Given the description of an element on the screen output the (x, y) to click on. 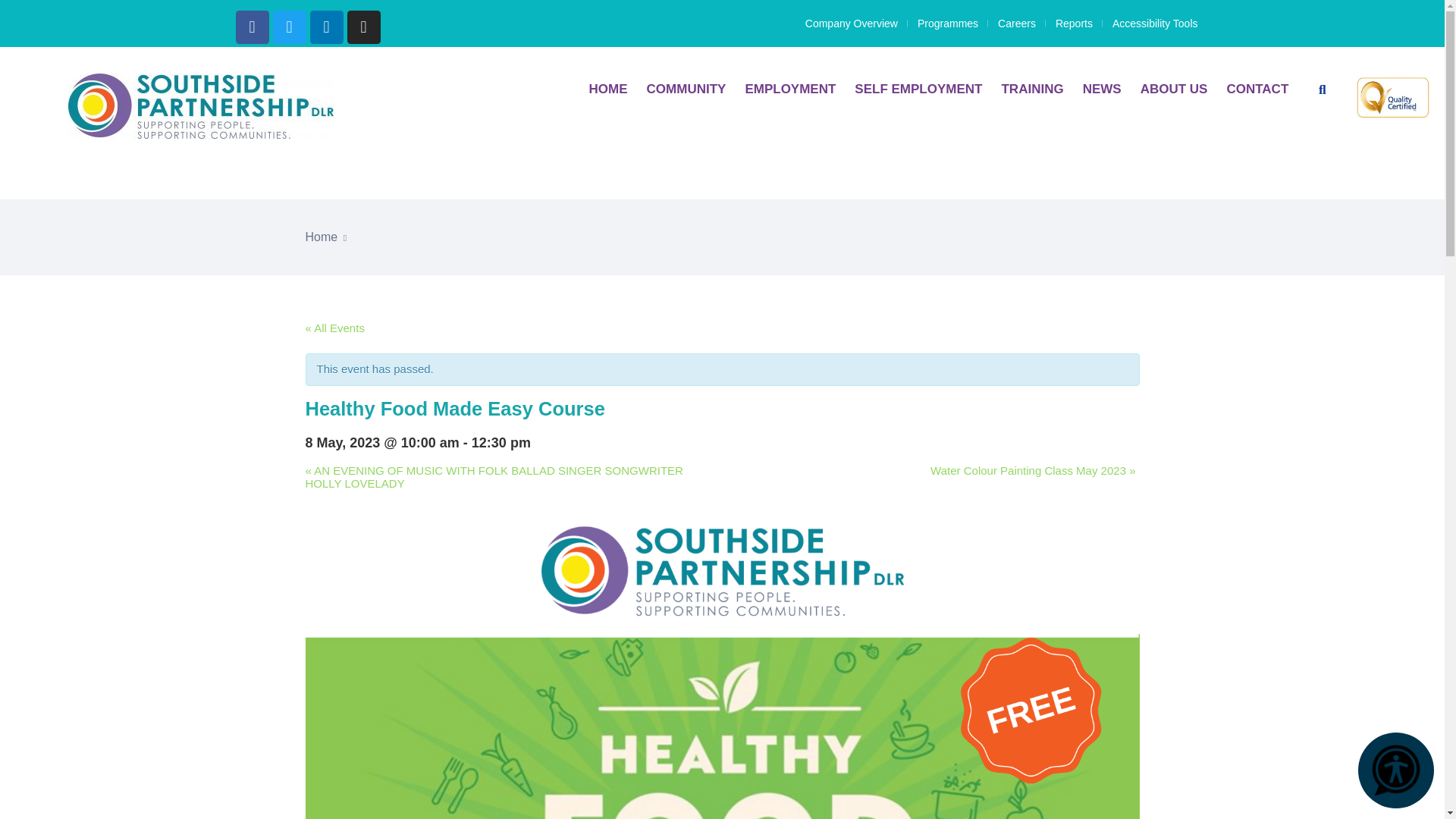
ABOUT US (1174, 89)
Programmes (947, 22)
CONTACT (1256, 89)
Reports (1073, 22)
Accessibility Tools (1155, 22)
EMPLOYMENT (789, 89)
HOME (608, 89)
Company Overview (850, 22)
Careers (1016, 22)
Go to Southside Partnership. (320, 236)
COMMUNITY (686, 89)
SELF EMPLOYMENT (917, 89)
NEWS (1102, 89)
TRAINING (1031, 89)
